Given the description of an element on the screen output the (x, y) to click on. 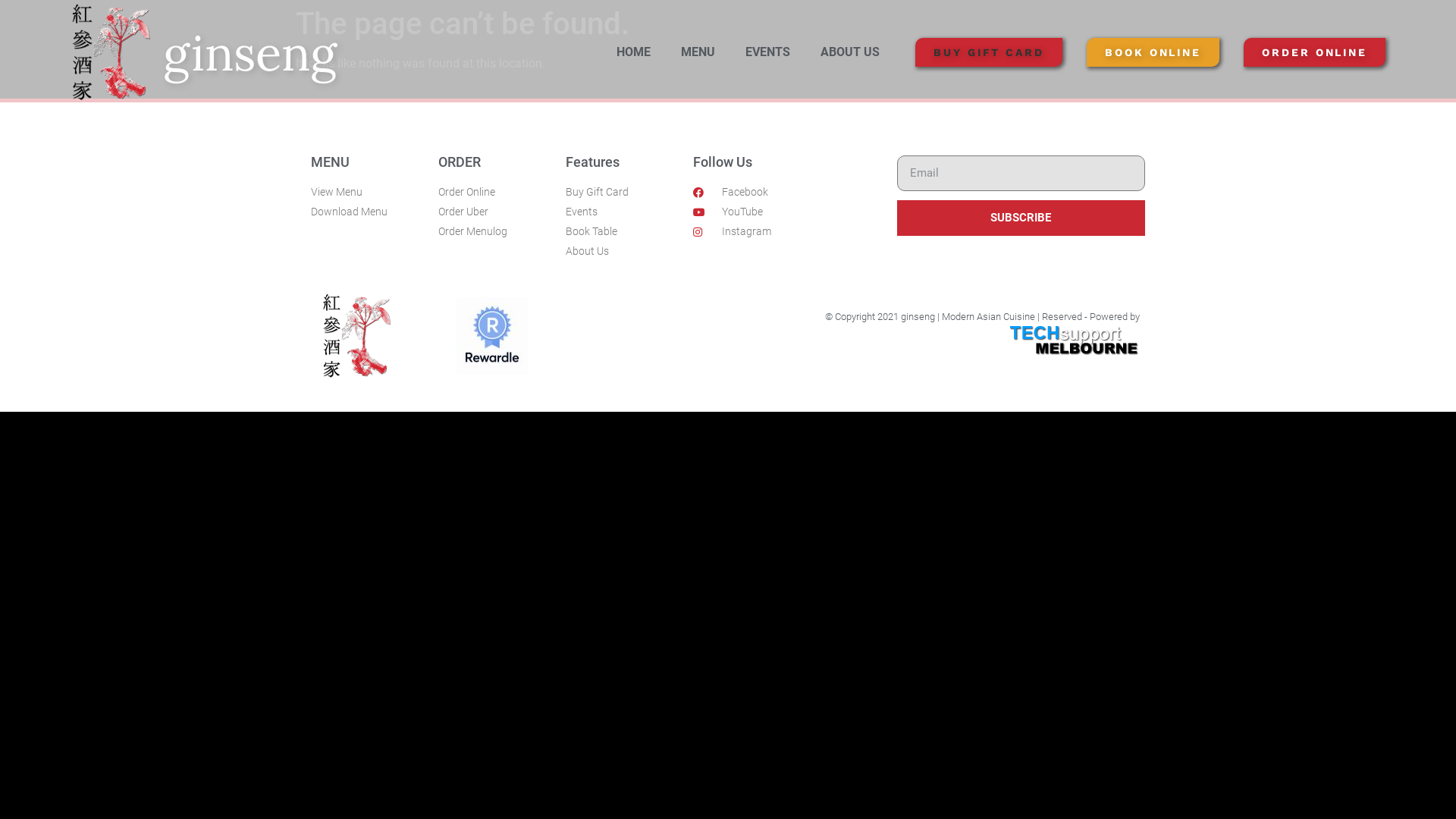
Buy Gift Card Element type: text (621, 192)
EVENTS Element type: text (767, 51)
Download Menu Element type: text (366, 211)
ginseng Element type: text (249, 52)
MENU Element type: text (697, 51)
About Us Element type: text (621, 251)
Facebook Element type: text (787, 192)
BUY GIFT CARD Element type: text (988, 51)
View Menu Element type: text (366, 192)
Order Menulog Element type: text (494, 231)
ORDER ONLINE Element type: text (1314, 51)
Order Online Element type: text (494, 192)
Book Table Element type: text (621, 231)
ABOUT US Element type: text (849, 51)
Order Uber Element type: text (494, 211)
HOME Element type: text (633, 51)
Instagram Element type: text (787, 231)
YouTube Element type: text (787, 211)
Events Element type: text (621, 211)
BOOK ONLINE Element type: text (1152, 51)
SUBSCRIBE Element type: text (1021, 217)
